Given the description of an element on the screen output the (x, y) to click on. 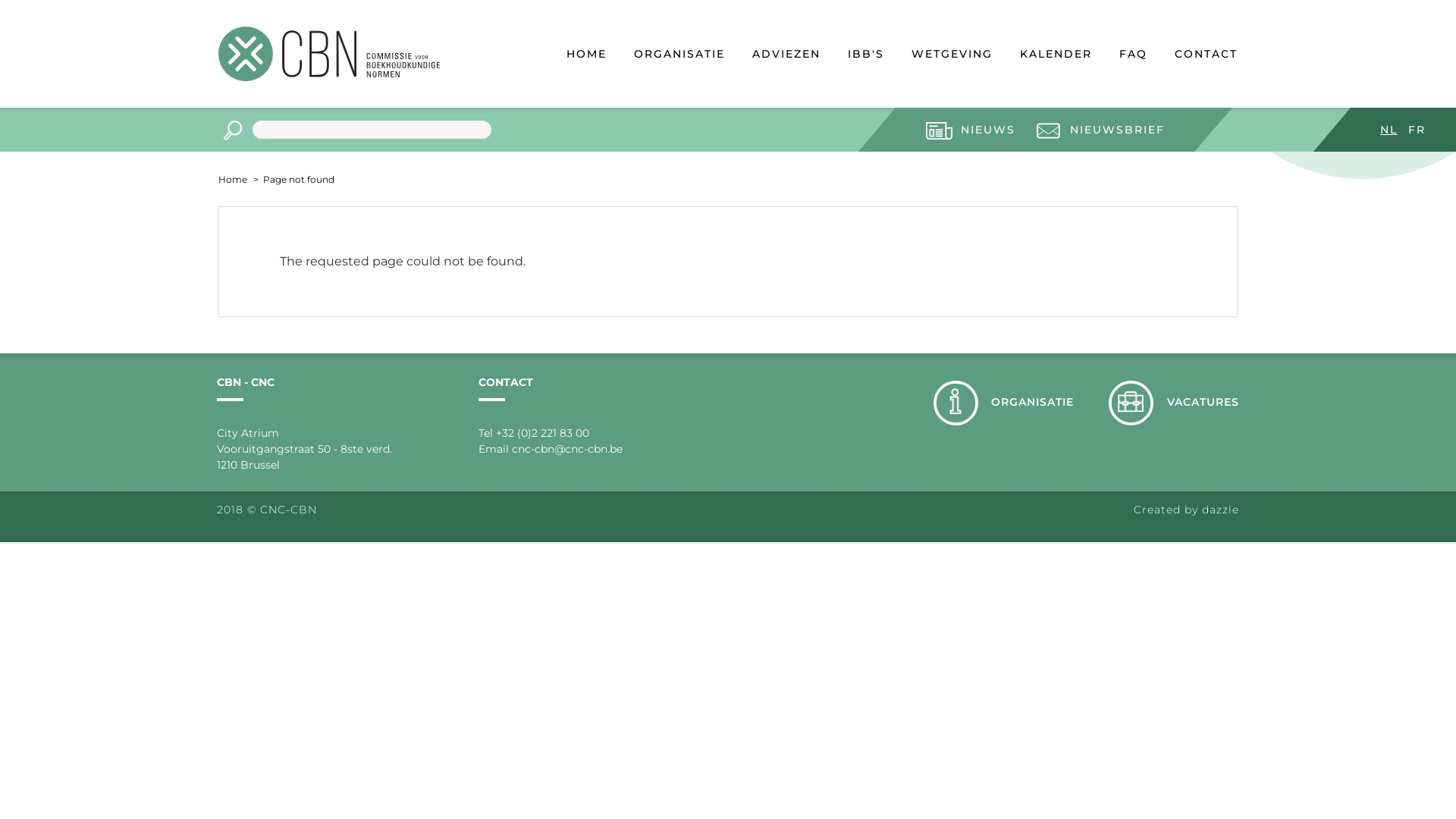
NL Element type: text (1388, 129)
cnc-cbn@cnc-cbn.be Element type: text (566, 448)
dazzle Element type: text (1220, 509)
CONTACT Element type: text (1205, 56)
ADVIEZEN Element type: text (786, 56)
Apply Element type: text (232, 130)
ORGANISATIE Element type: text (1003, 402)
FAQ Element type: text (1133, 56)
WETGEVING Element type: text (951, 56)
Home Element type: text (232, 179)
ORGANISATIE Element type: text (678, 56)
NIEUWSBRIEF Element type: text (1099, 130)
VACATURES Element type: text (1173, 402)
KALENDER Element type: text (1055, 56)
HOME Element type: text (586, 56)
NIEUWS Element type: text (970, 130)
Page not found Element type: text (296, 179)
Skip to main content Element type: text (0, 0)
FR Element type: text (1416, 129)
IBB'S Element type: text (865, 56)
